Given the description of an element on the screen output the (x, y) to click on. 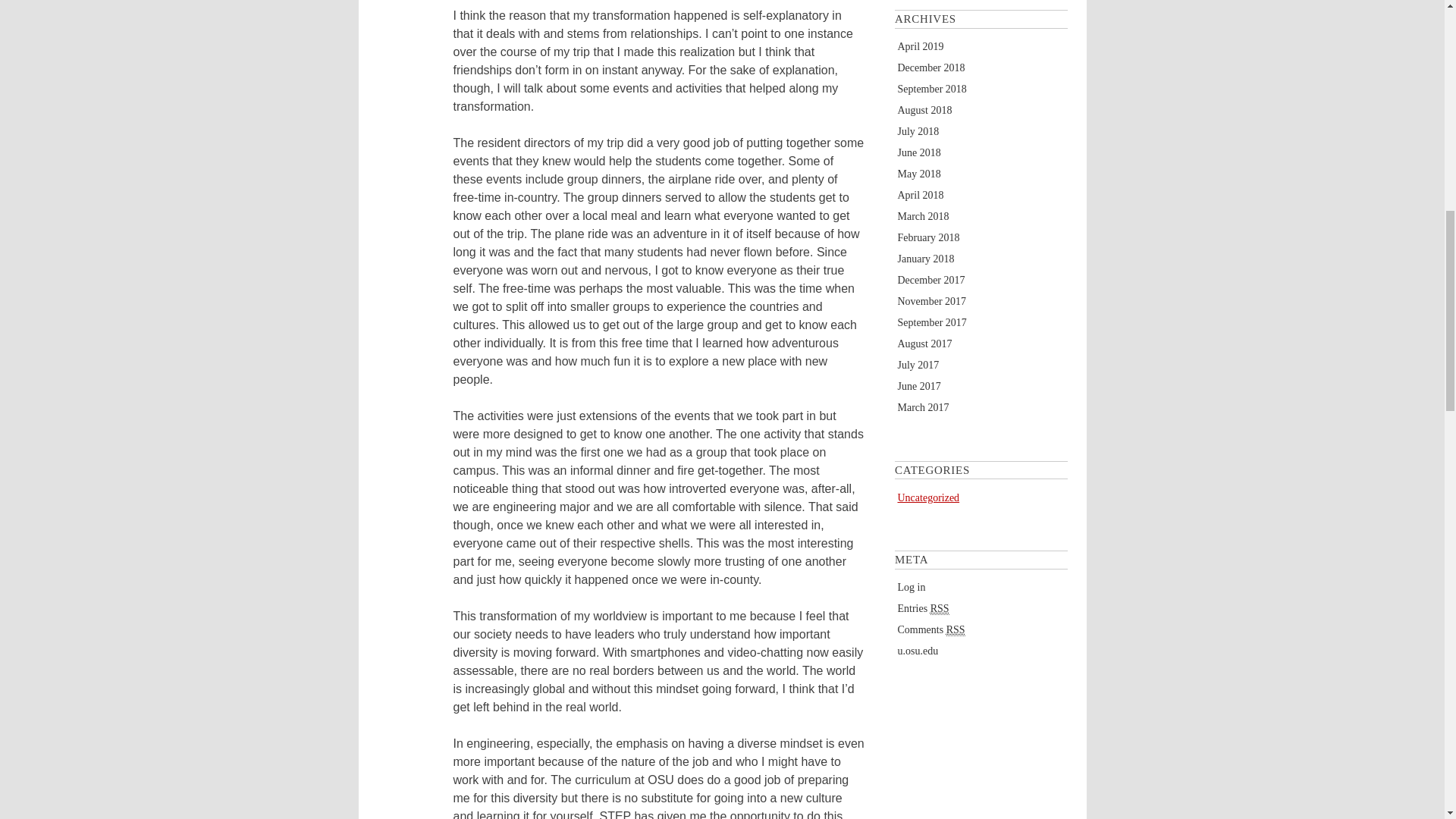
April 2019 (920, 46)
December 2018 (931, 67)
The latest comments to all posts in RSS (931, 630)
September 2018 (932, 89)
August 2018 (925, 110)
Really Simple Syndication (939, 608)
Really Simple Syndication (955, 630)
Syndicate this site using RSS 2.0 (923, 608)
Powered by u.osu.edu (918, 650)
